Given the description of an element on the screen output the (x, y) to click on. 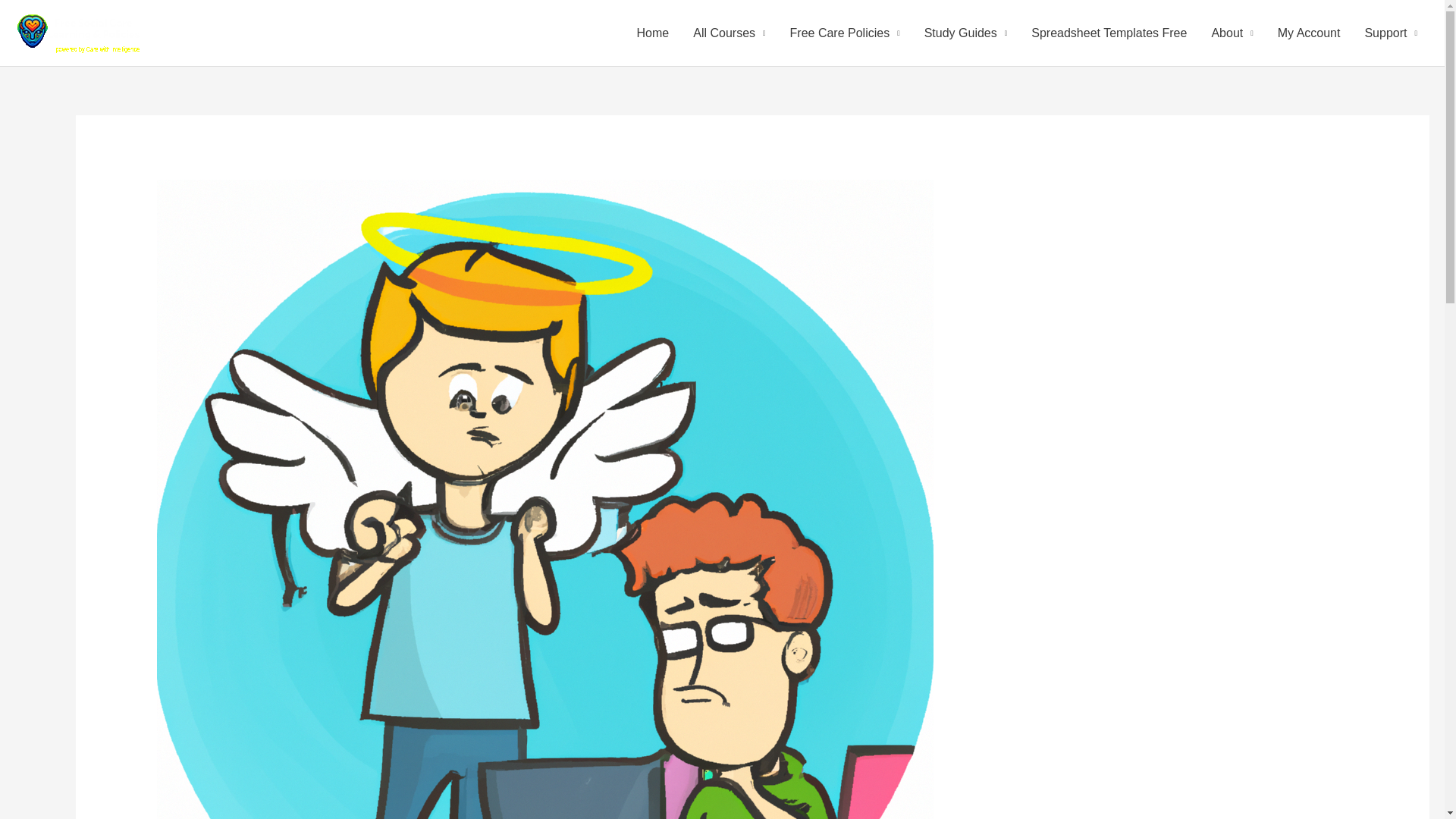
Free Care Policies (844, 33)
All Courses (729, 33)
Study Guides (966, 33)
Home (652, 33)
